Given the description of an element on the screen output the (x, y) to click on. 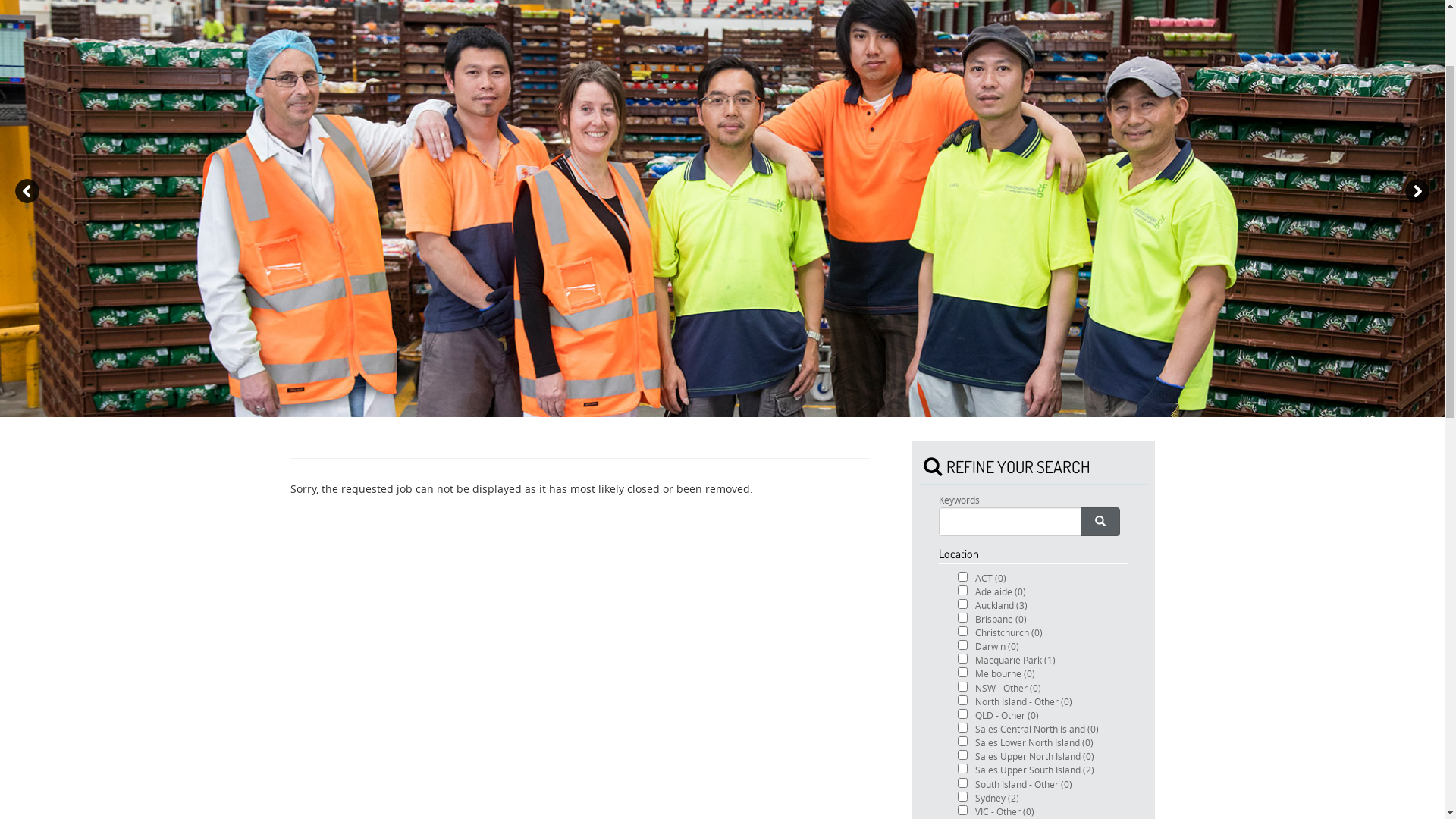
JOB SEARCH Element type: text (991, 39)
ALL JOBS Element type: text (921, 39)
REGISTER Element type: text (1127, 39)
Submit Element type: text (24, 138)
LOGIN Element type: text (1058, 39)
HOME Element type: text (866, 39)
